Given the description of an element on the screen output the (x, y) to click on. 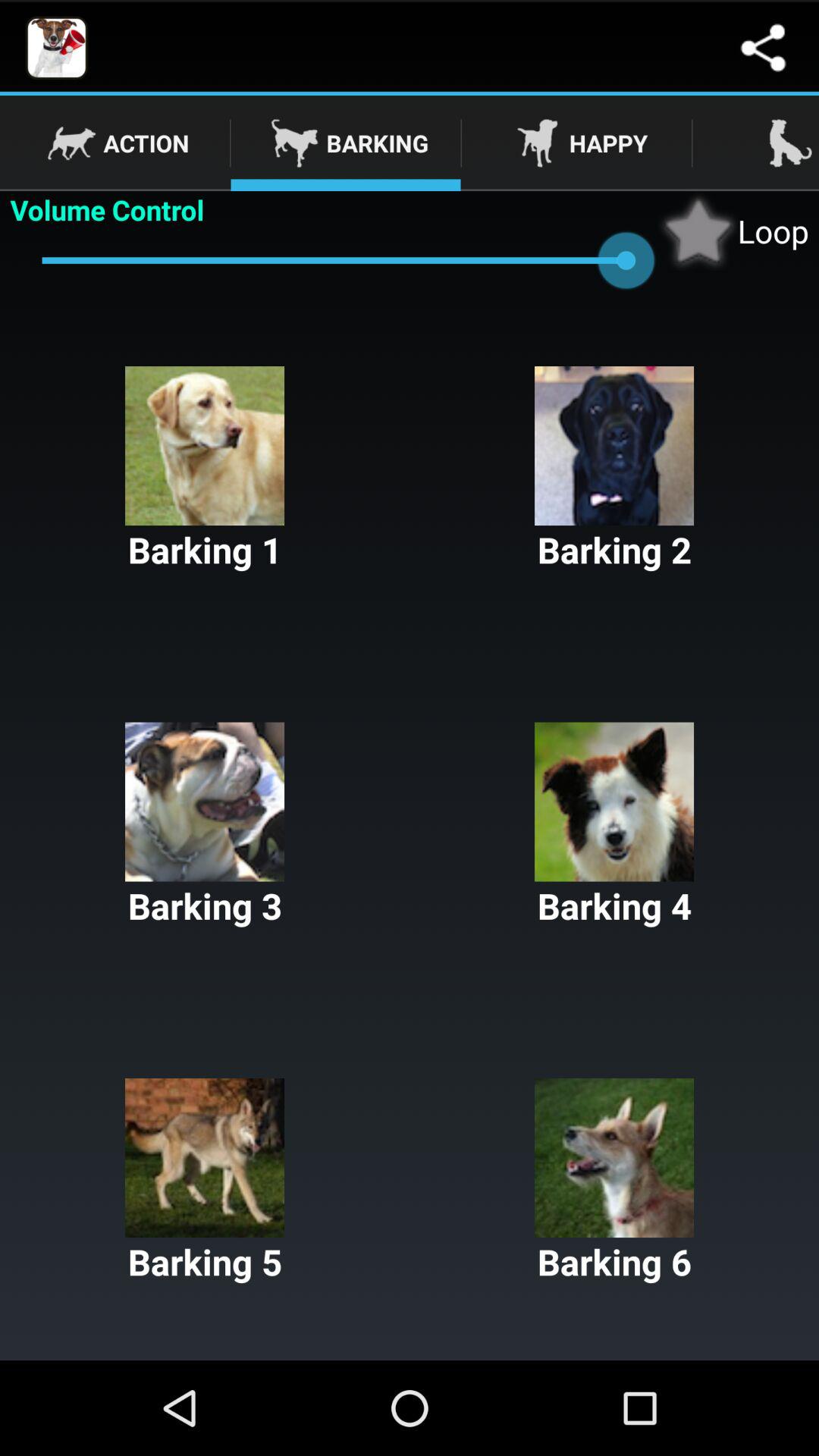
select icon below barking 1 button (614, 825)
